Given the description of an element on the screen output the (x, y) to click on. 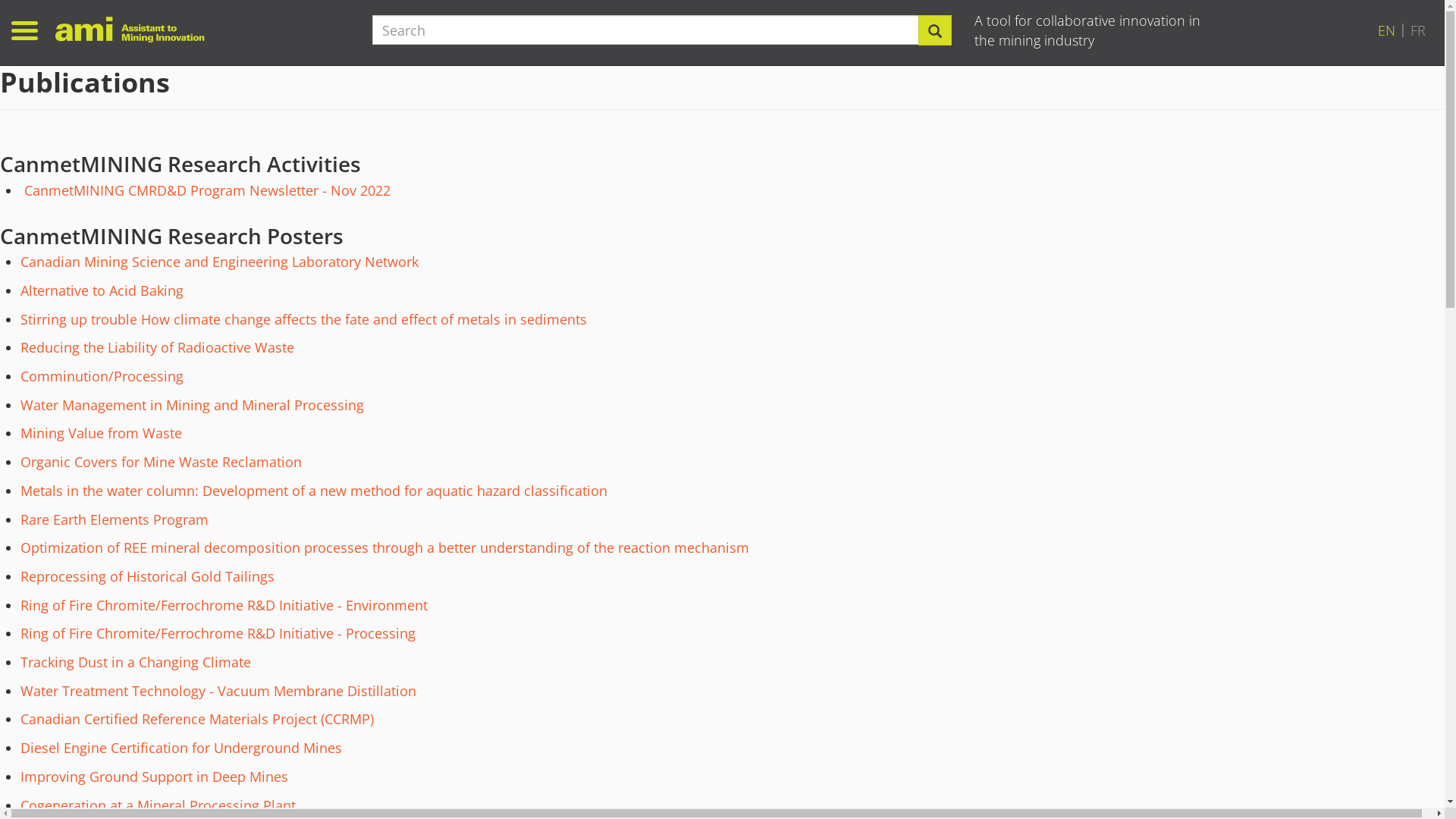
Rare Earth Elements Program Element type: text (114, 519)
Alternative to Acid Baking Element type: text (101, 290)
Canadian Mining Science and Engineering Laboratory Network Element type: text (219, 261)
Home Element type: text (135, 29)
Organic Covers for Mine Waste Reclamation Element type: text (160, 461)
CanmetMINING CMRD&D Program Newsletter - Nov 2022 Element type: text (207, 190)
Canadian Certified Reference Materials Project (CCRMP) Element type: text (196, 718)
Diesel Engine Certification for Underground Mines Element type: text (181, 747)
Water Management in Mining and Mineral Processing Element type: text (192, 404)
Reprocessing of Historical Gold Tailings Element type: text (147, 576)
Cogeneration at a Mineral Processing Plant Element type: text (157, 805)
FR Element type: text (1417, 30)
Mining Value from Waste Element type: text (101, 432)
Comminution/Processing Element type: text (101, 376)
Water Treatment Technology - Vacuum Membrane Distillation Element type: text (218, 690)
Improving Ground Support in Deep Mines Element type: text (154, 776)
Reducing the Liability of Radioactive Waste Element type: text (157, 347)
Skip to main content Element type: text (0, 65)
Search Element type: text (934, 30)
EN Element type: text (1386, 30)
Tracking Dust in a Changing Climate Element type: text (135, 661)
